Given the description of an element on the screen output the (x, y) to click on. 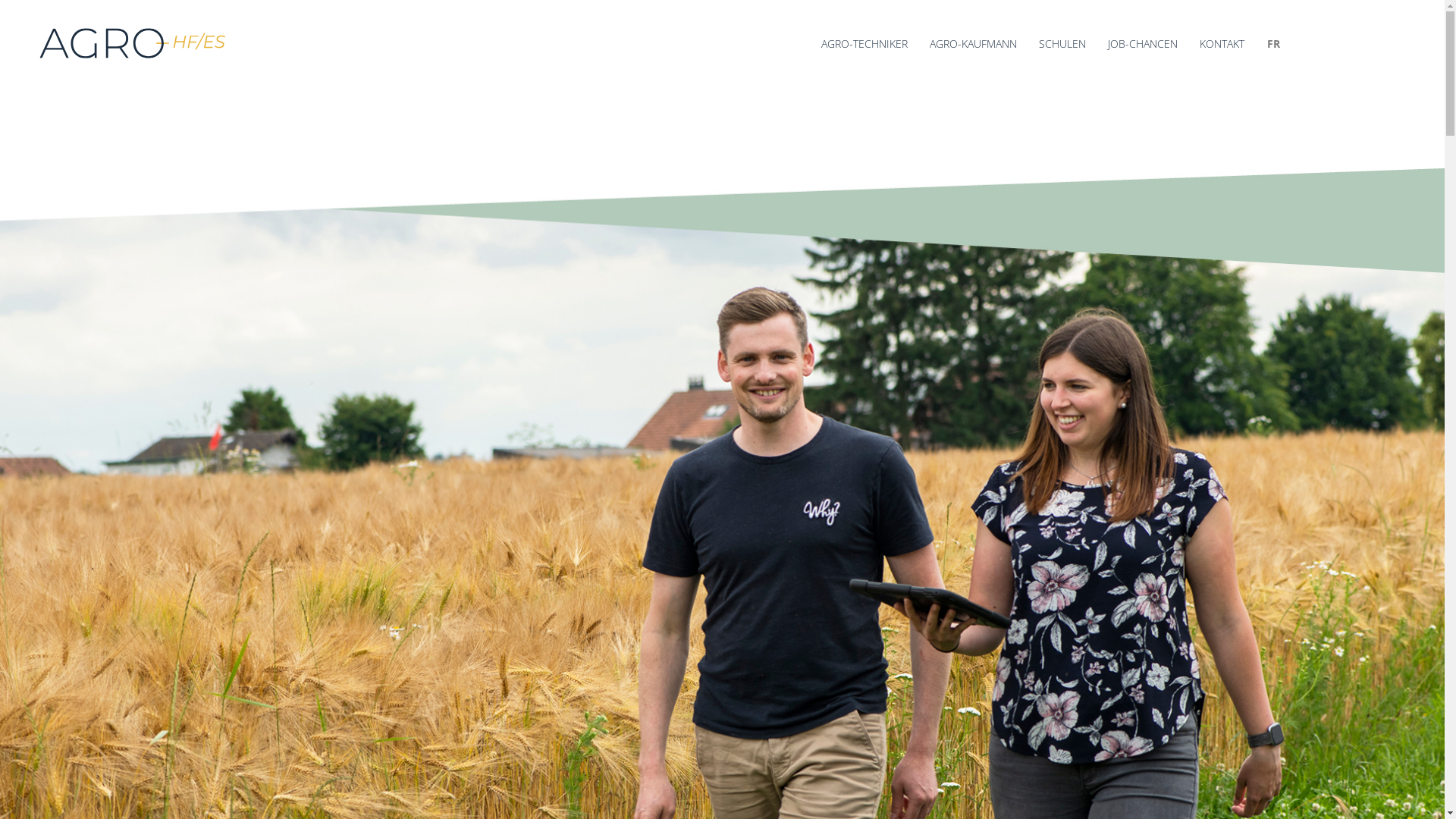
JOB-CHANCEN Element type: text (1142, 43)
KONTAKT Element type: text (1221, 43)
AGRO-KAUFMANN Element type: text (972, 43)
SCHULEN Element type: text (1061, 43)
FR Element type: text (1273, 43)
AGRO-TECHNIKER Element type: text (864, 43)
